Given the description of an element on the screen output the (x, y) to click on. 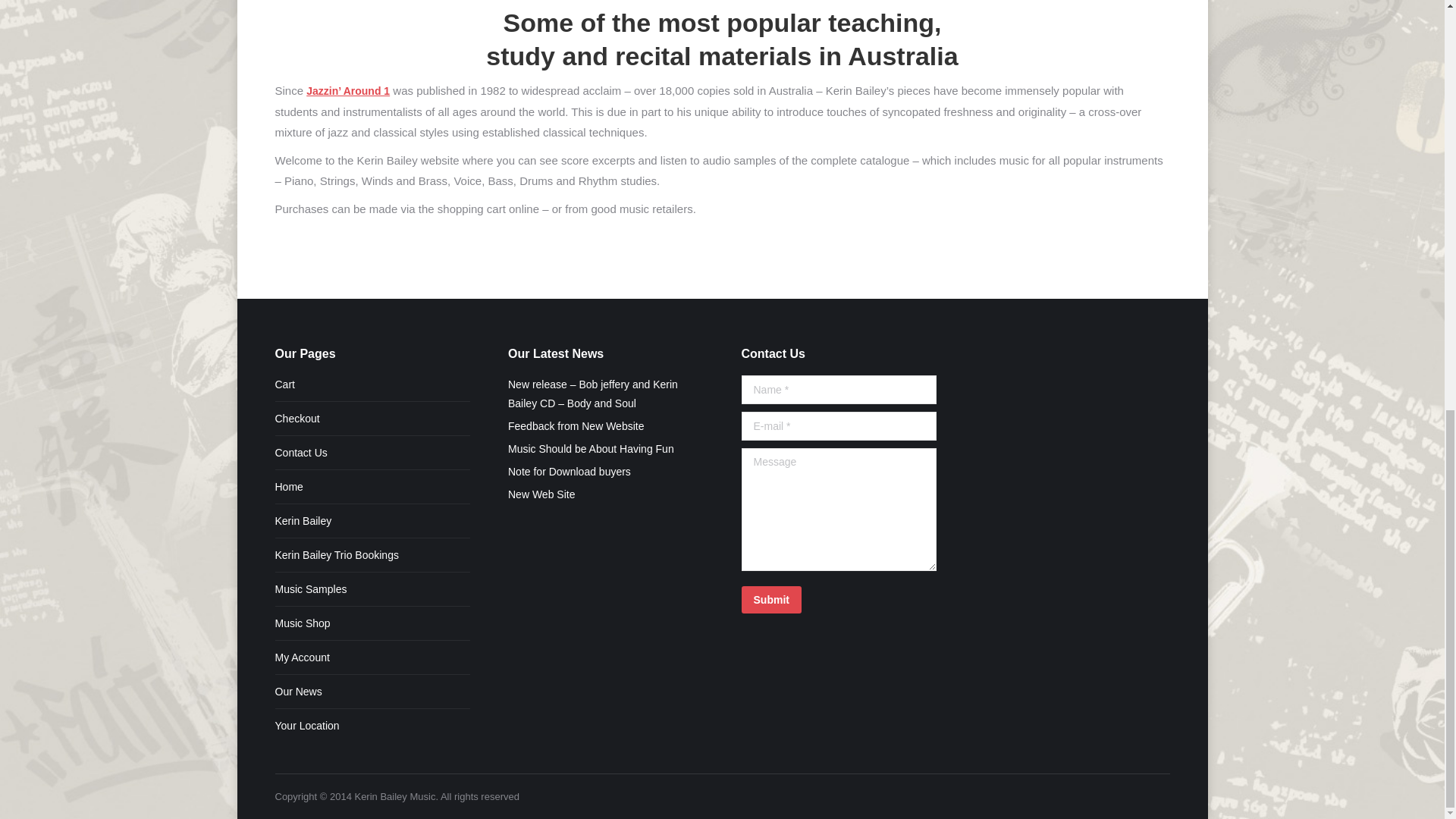
submit (839, 601)
